Given the description of an element on the screen output the (x, y) to click on. 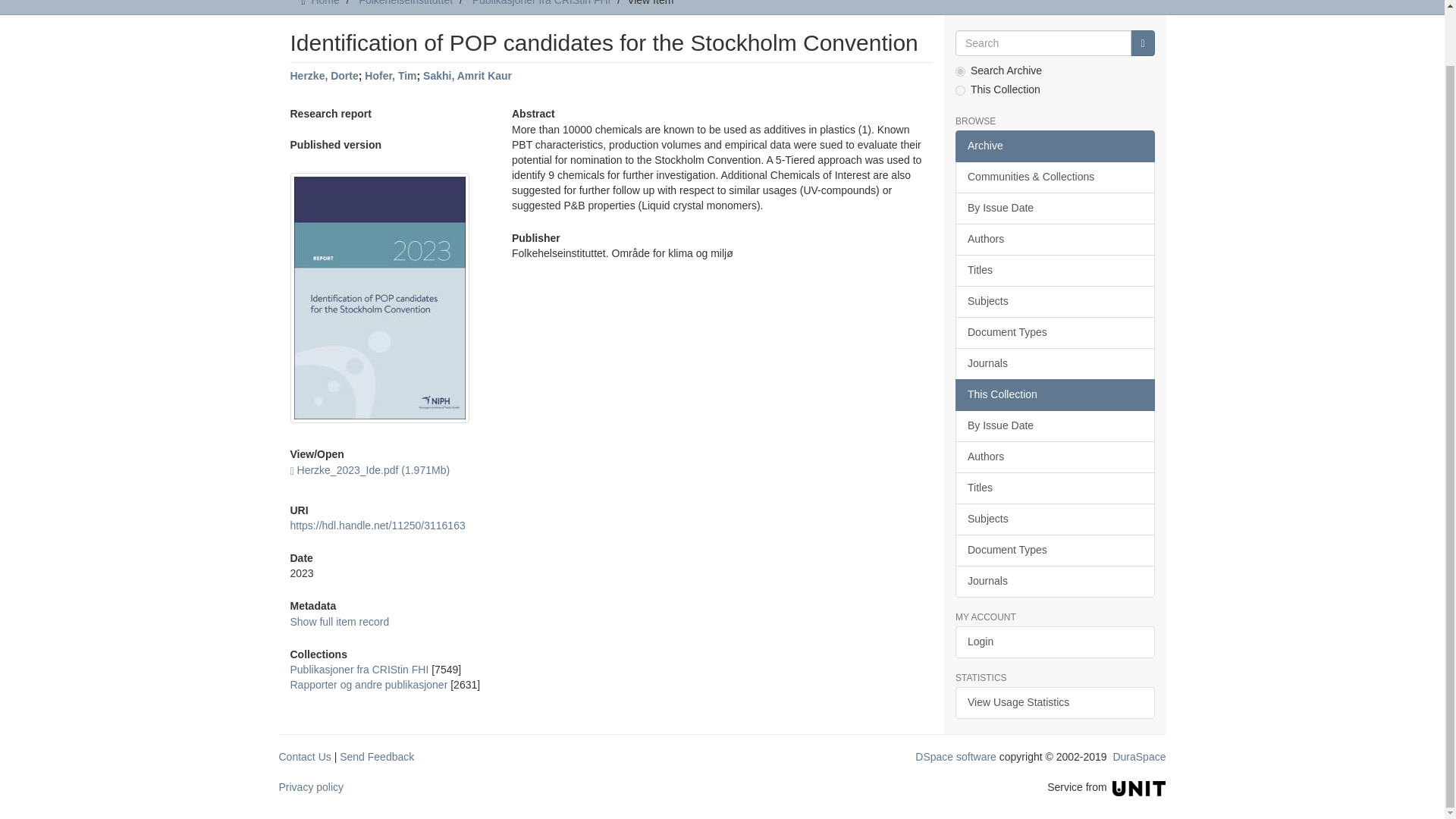
Publikasjoner fra CRIStin FHI (541, 2)
By Issue Date (1054, 208)
Folkehelseinstituttet (405, 2)
Home (325, 2)
Authors (1054, 239)
Show full item record (338, 621)
Sakhi, Amrit Kaur (467, 75)
Publikasjoner fra CRIStin FHI (358, 669)
Titles (1054, 270)
Hofer, Tim (390, 75)
